Given the description of an element on the screen output the (x, y) to click on. 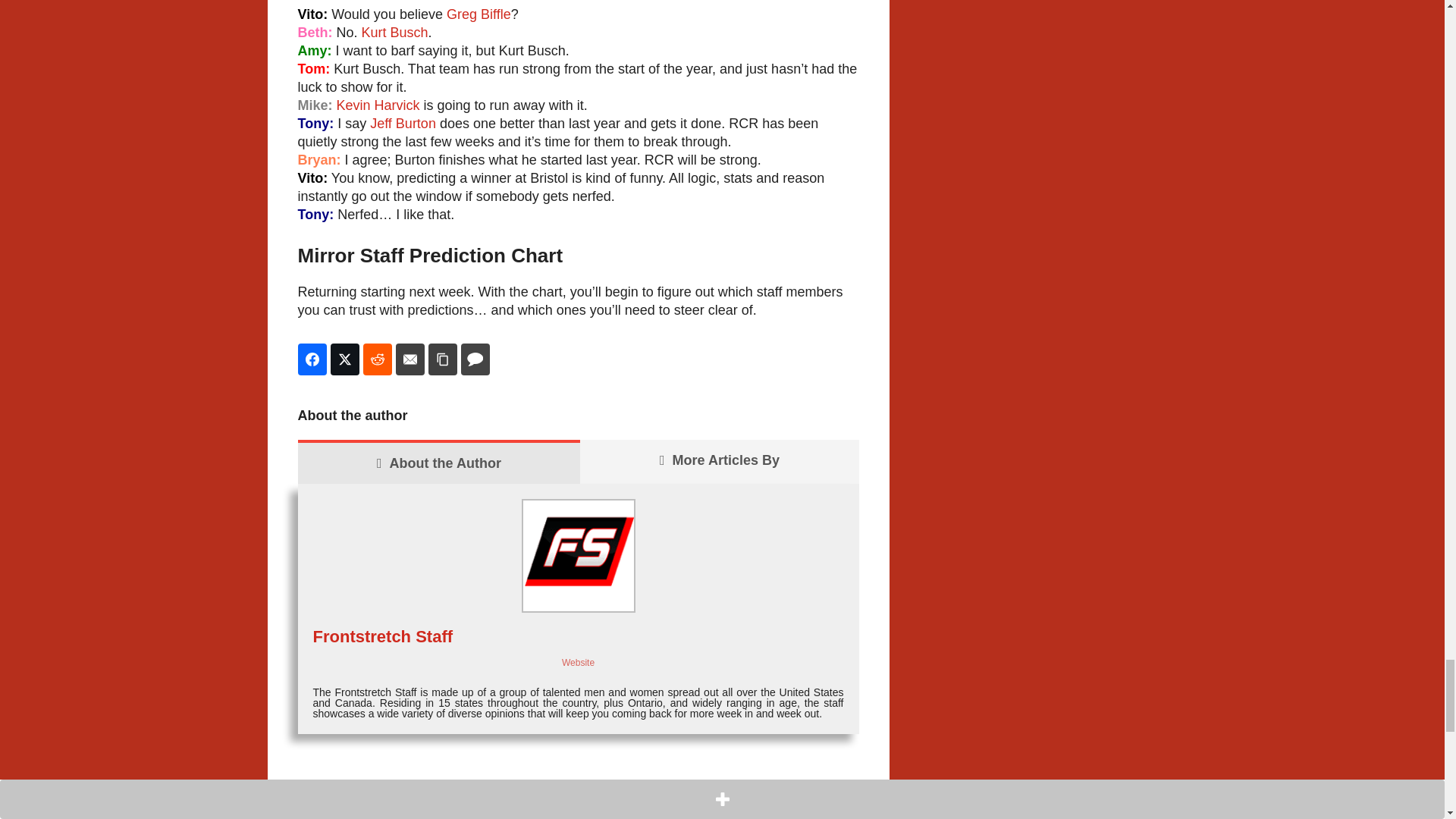
Share on Twitter (344, 359)
Share on Comments (475, 359)
Jeff Burton (402, 123)
Share on Reddit (376, 359)
Greg Biffle (478, 14)
Share on Facebook (311, 359)
Kurt Busch (394, 32)
Kevin Harvick (378, 105)
Share on Copy Link (442, 359)
Share on Email (410, 359)
